Given the description of an element on the screen output the (x, y) to click on. 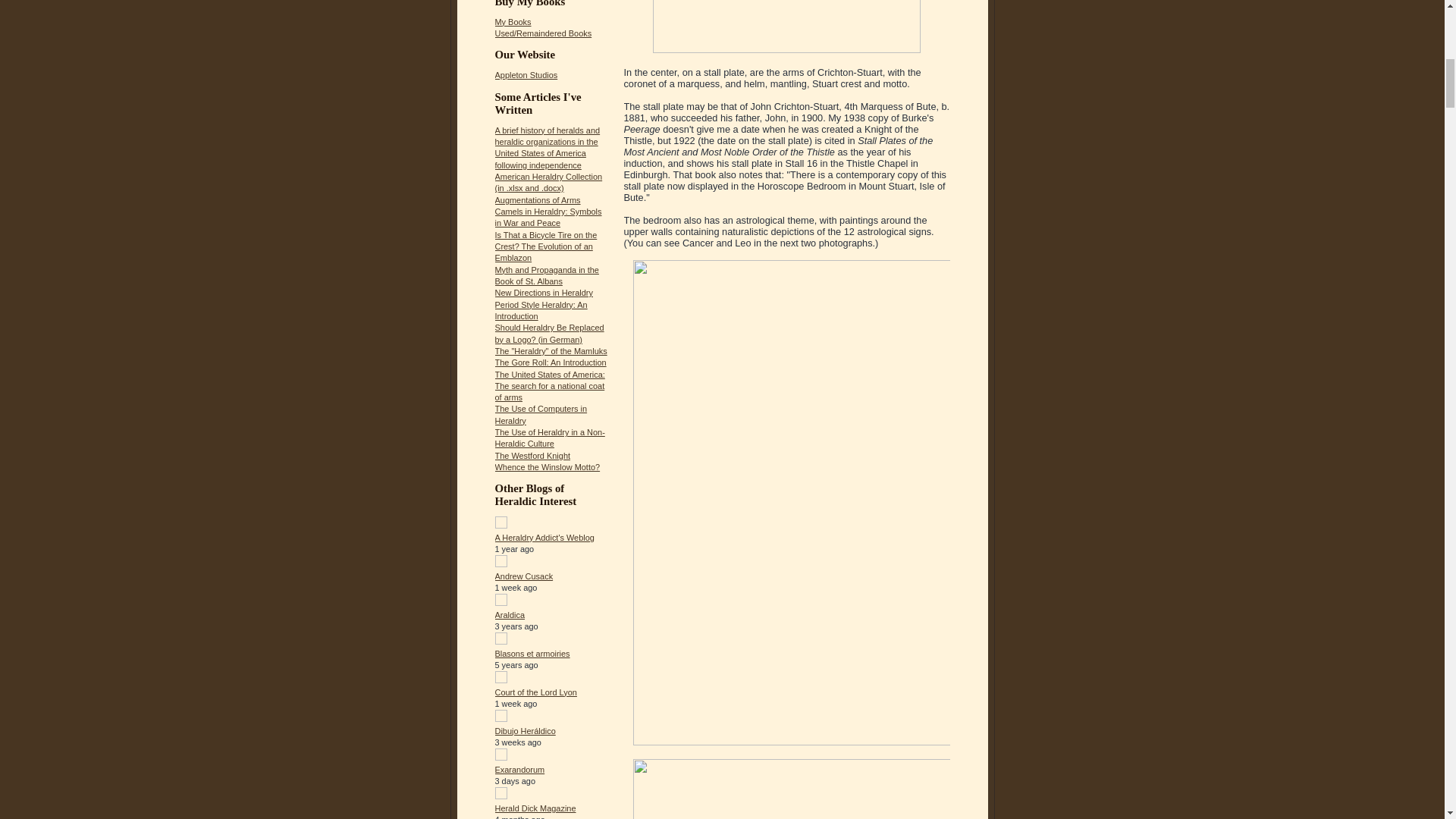
New Directions in Heraldry (543, 292)
The Use of Computers in Heraldry (540, 414)
The Gore Roll: An Introduction (550, 361)
Myth and Propaganda in the Book of St. Albans (546, 275)
Camels in Heraldry: Symbols in War and Peace (548, 217)
Whence the Winslow Motto? (547, 466)
Augmentations of Arms (537, 199)
My Books (513, 21)
Period Style Heraldry: An Introduction (540, 310)
Court of the Lord Lyon (535, 691)
The "Heraldry" of the Mamluks (551, 350)
Blasons et armoiries (532, 653)
Araldica (509, 614)
A Heraldry Addict's Weblog (544, 537)
